Given the description of an element on the screen output the (x, y) to click on. 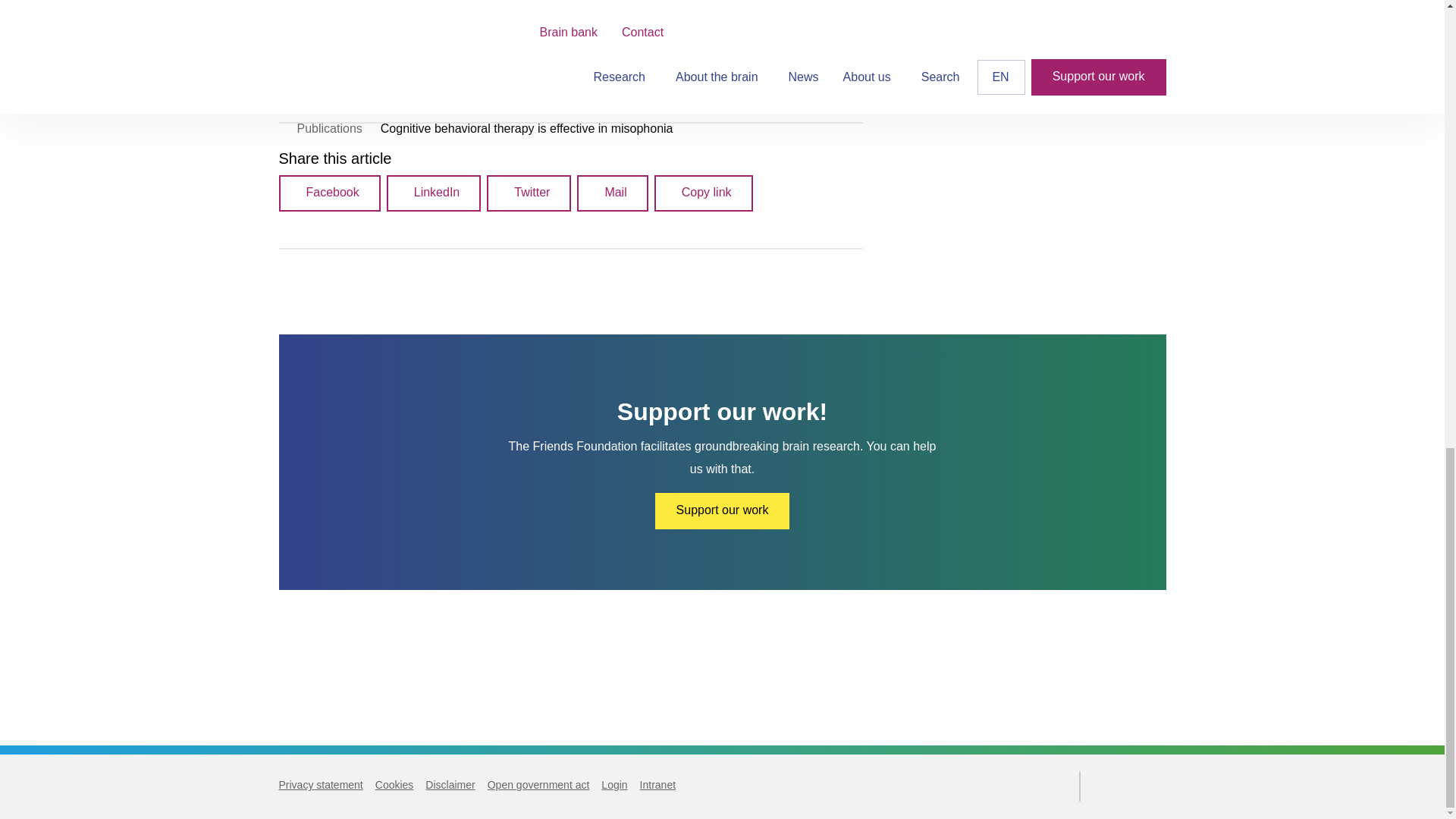
Share via mail (611, 193)
Share on LinkedIn (434, 193)
Tweet (528, 193)
Share on Facebook (329, 193)
Share link (702, 193)
